Given the description of an element on the screen output the (x, y) to click on. 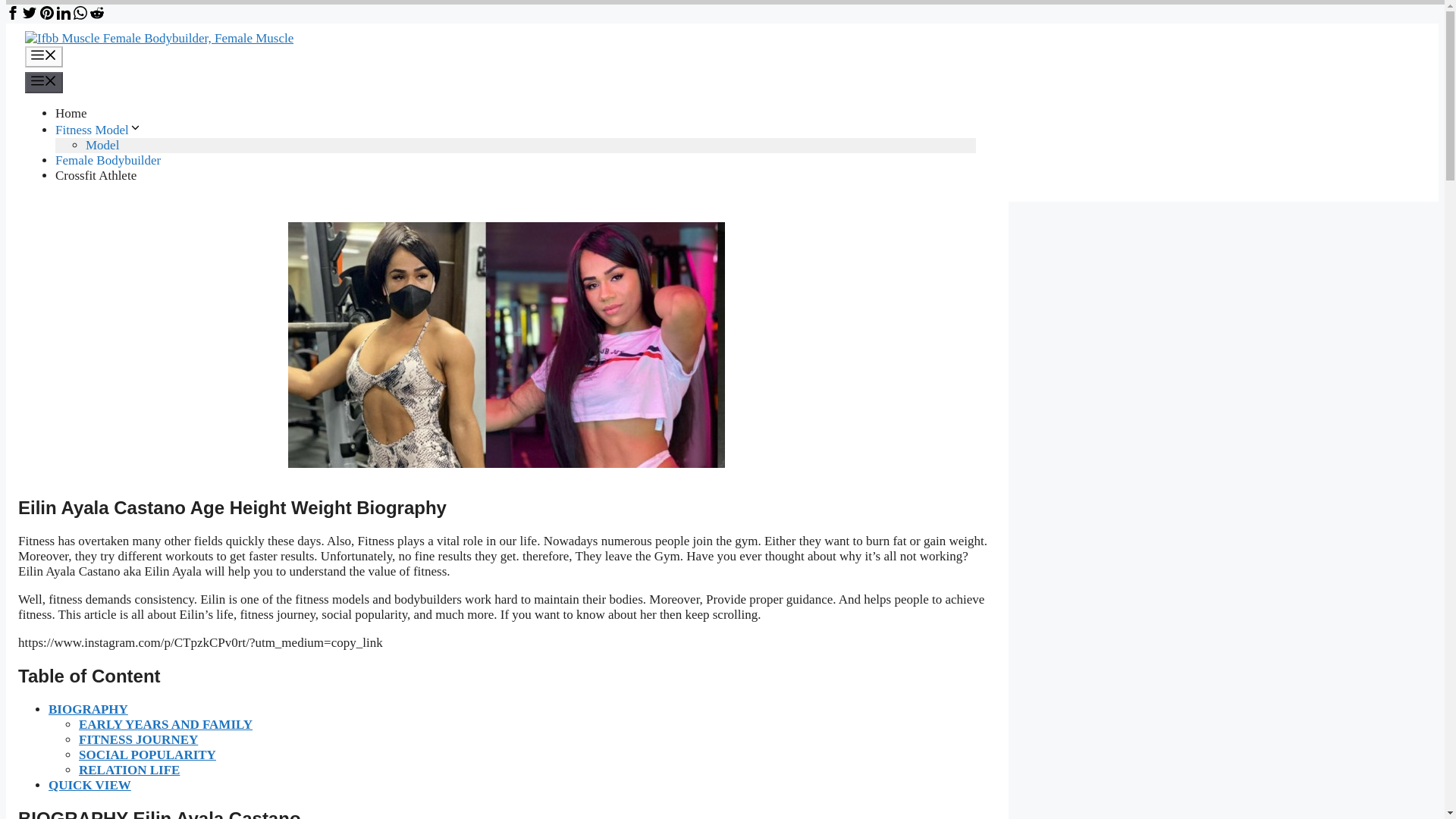
Home (71, 113)
Fitness Model (98, 129)
Eilin Ayala Castano Age Height Weight Biography 1 (506, 344)
Menu (43, 56)
QUICK VIEW (89, 785)
SOCIAL POPULARITY (146, 754)
FITNESS JOURNEY (138, 739)
Menu (43, 82)
Model (102, 145)
EARLY YEARS AND FAMILY (164, 724)
Female Bodybuilder (107, 160)
RELATION LIFE (128, 769)
BIOGRAPHY (88, 708)
